Given the description of an element on the screen output the (x, y) to click on. 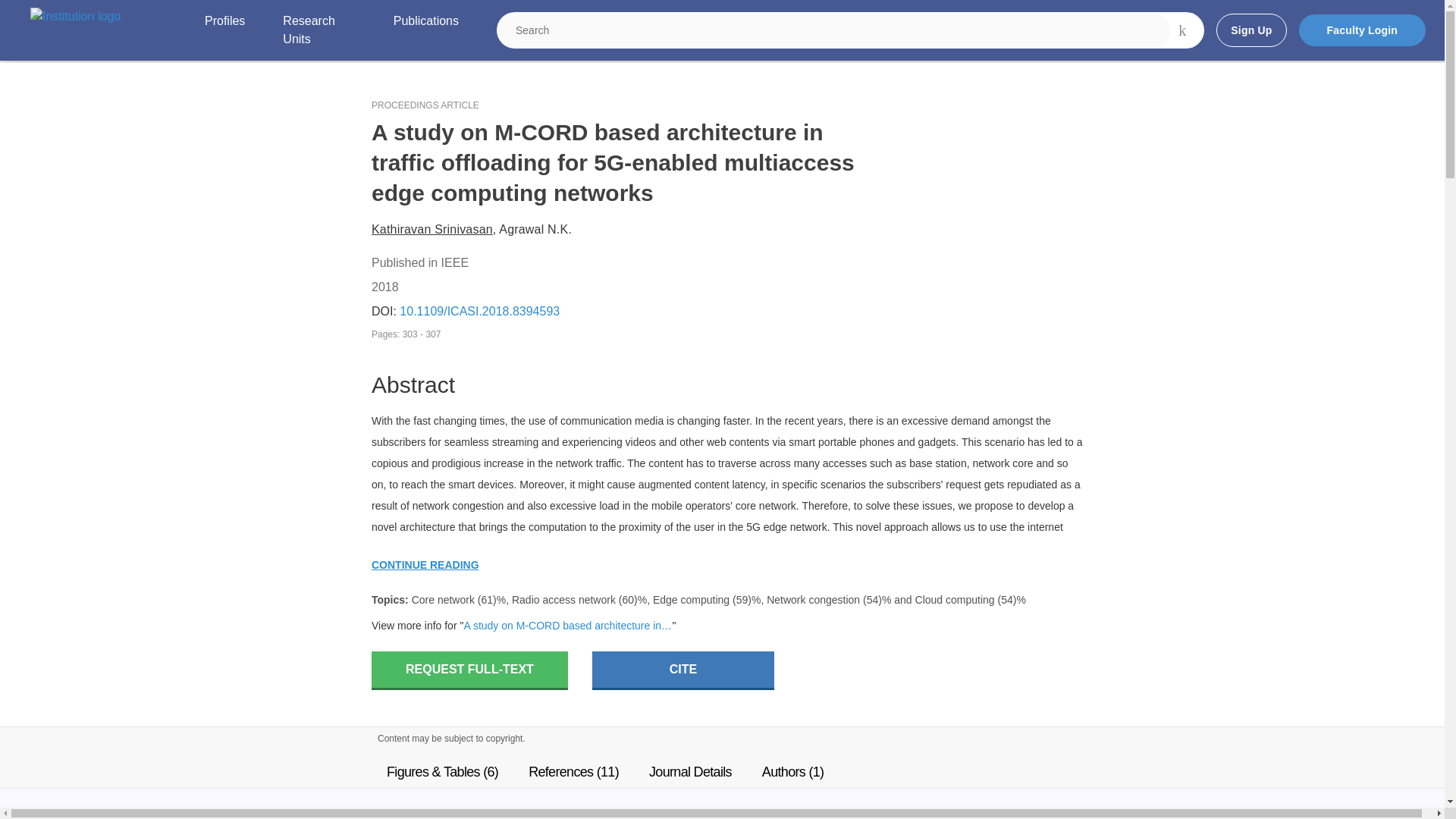
Sign Up (1250, 29)
REQUEST FULL-TEXT (469, 670)
Publications (425, 30)
Cloud computing (954, 599)
Institution logo (75, 16)
Edge computing (690, 599)
Kathiravan Srinivasan (432, 228)
Profiles (224, 30)
CITE (683, 670)
Journal Details (689, 771)
Research Units (318, 30)
Core network (443, 599)
Network congestion (813, 599)
Faculty Login (1361, 29)
